Given the description of an element on the screen output the (x, y) to click on. 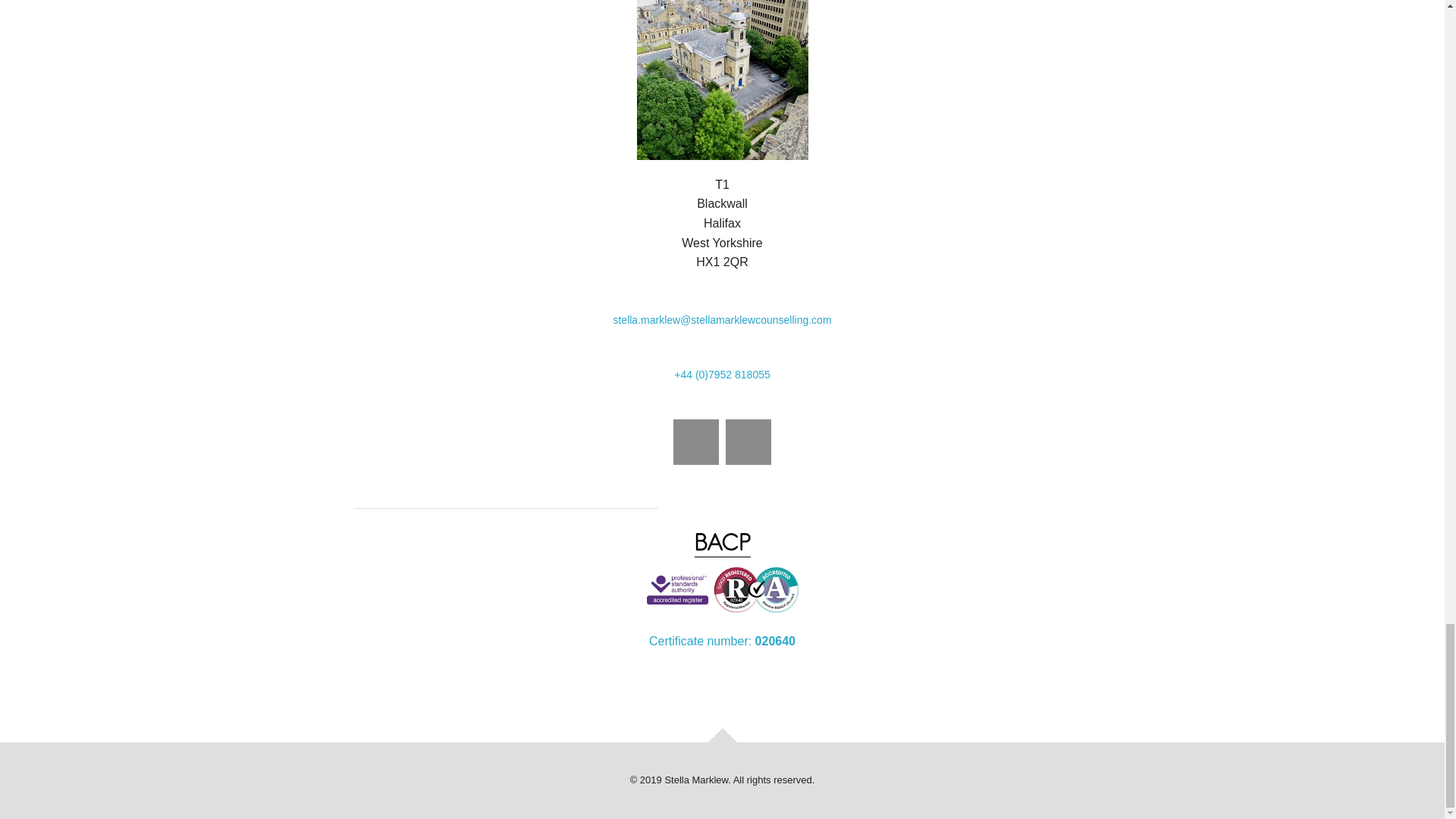
Certificate number: 020640 (721, 640)
BACP (721, 589)
Certificate Number: 020640 (721, 640)
LinkedIn (695, 442)
Facebook (748, 442)
BACP (722, 544)
